Given the description of an element on the screen output the (x, y) to click on. 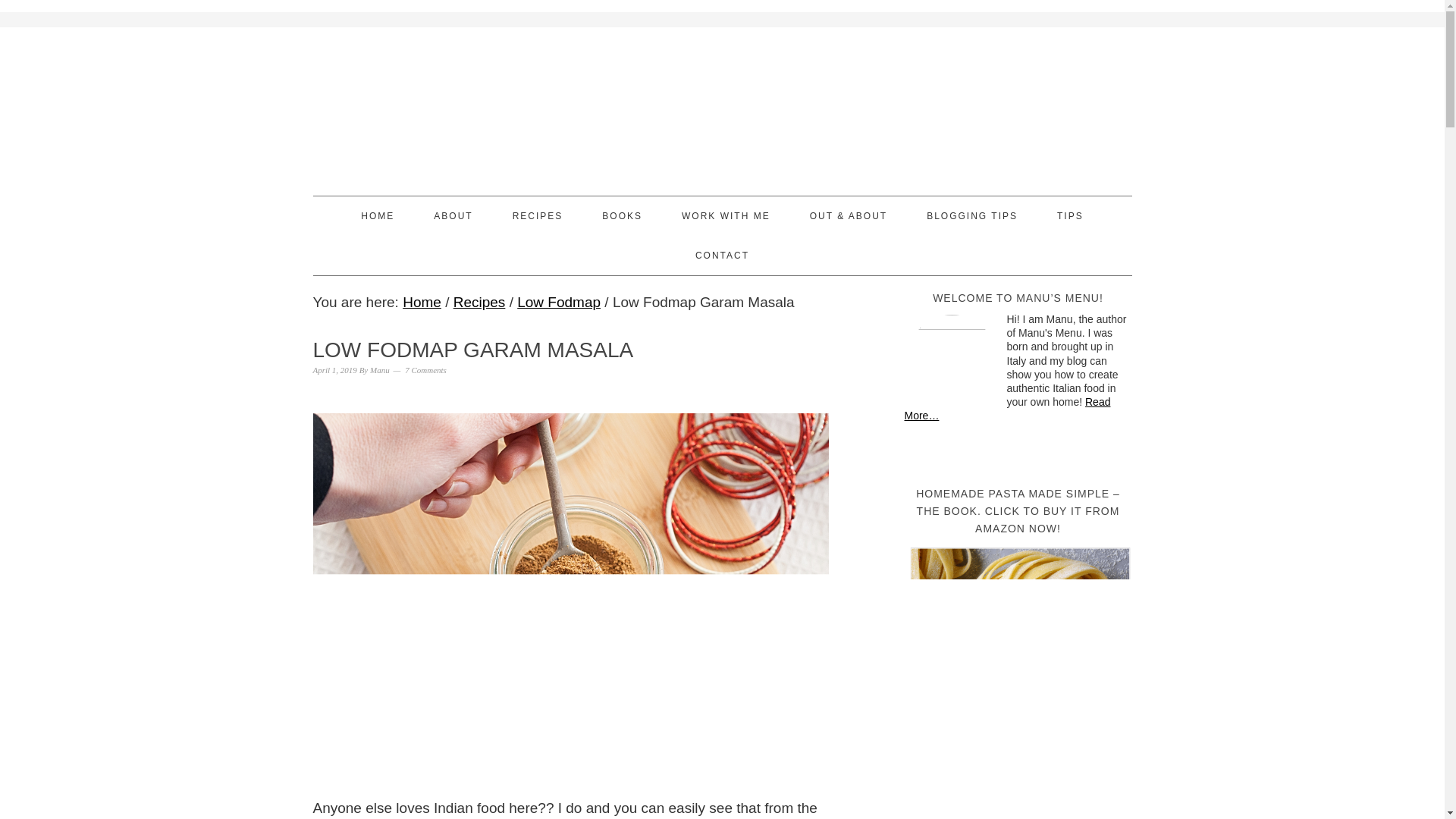
BLOGGING TIPS (971, 215)
WORK WITH ME (725, 215)
RECIPES (537, 215)
ABOUT (453, 215)
BOOKS (622, 215)
HOME (377, 215)
